Given the description of an element on the screen output the (x, y) to click on. 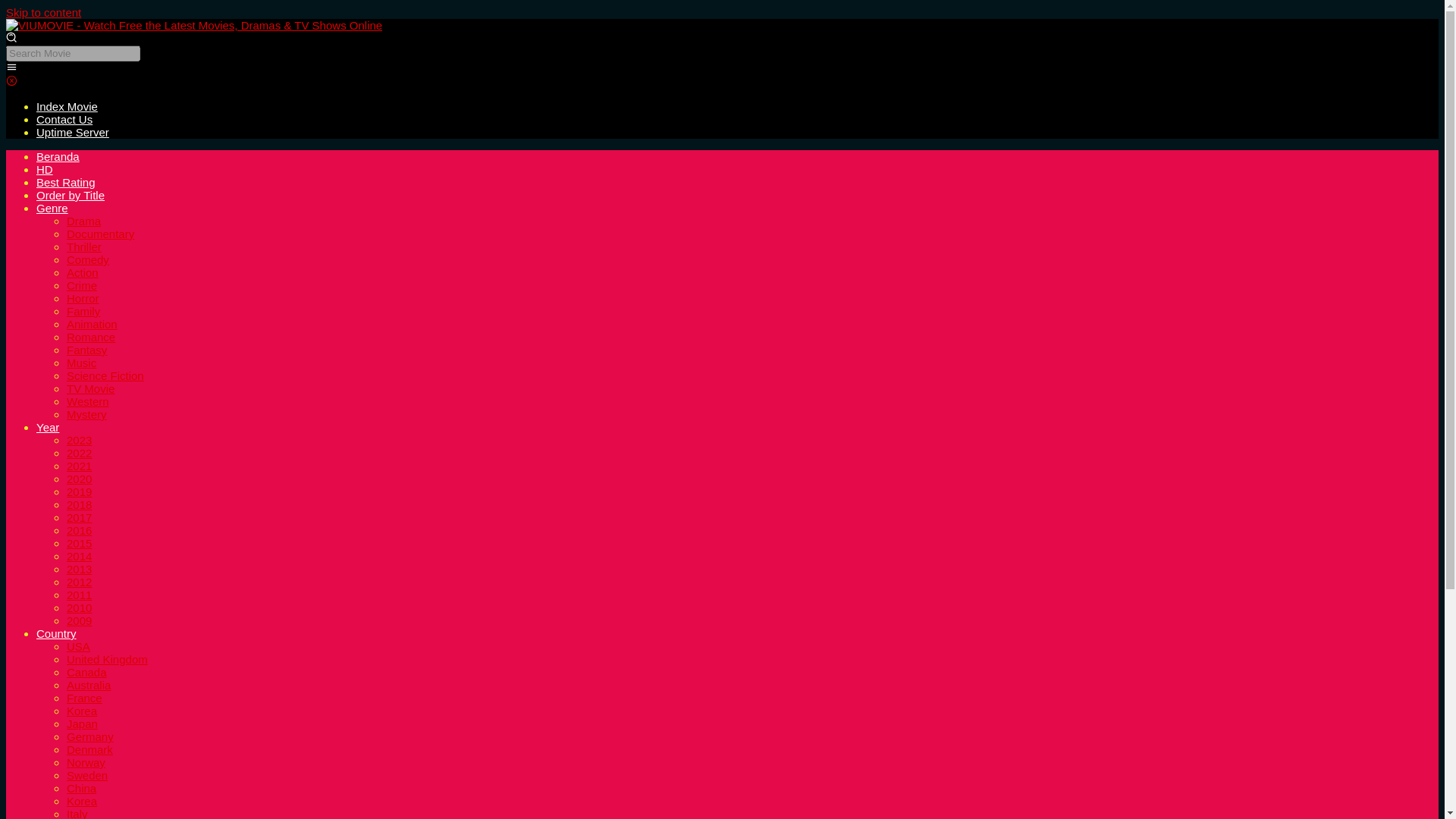
Contact Us (64, 119)
Animation (91, 323)
Crime (81, 285)
Index Movie (66, 106)
Uptime Server (72, 132)
Order by Title (70, 195)
Year (47, 427)
Horror (82, 297)
Drama (83, 220)
2017 (78, 517)
Documentary (99, 233)
2019 (78, 491)
Family (83, 310)
Best Rating (66, 182)
Action (82, 272)
